Given the description of an element on the screen output the (x, y) to click on. 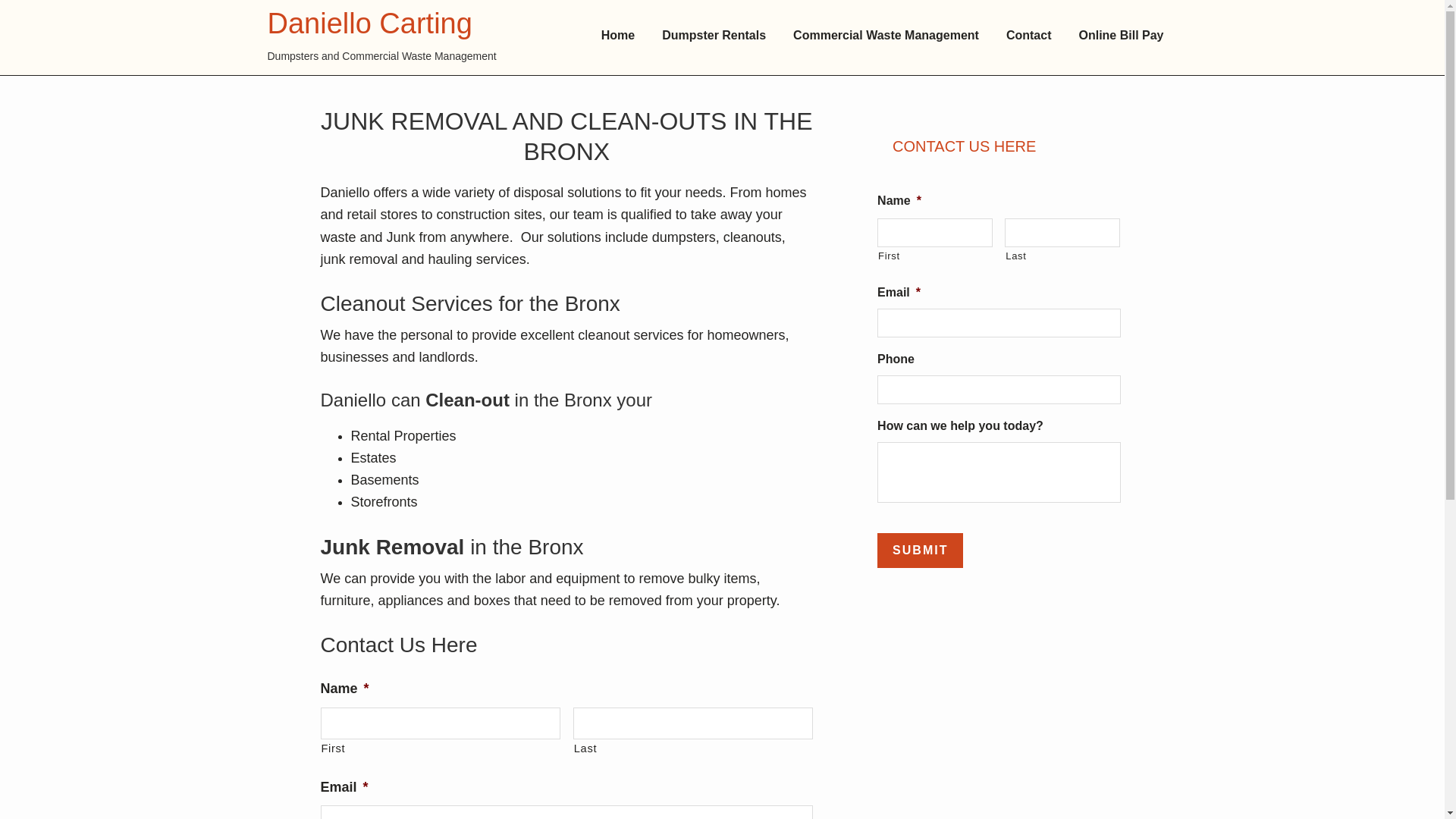
Online Bill Pay (1120, 35)
Dumpster Rentals (712, 35)
Submit (919, 550)
Submit (919, 550)
Daniello Carting (368, 24)
Commercial Waste Management (885, 35)
Contact (1028, 35)
Home (617, 35)
